Given the description of an element on the screen output the (x, y) to click on. 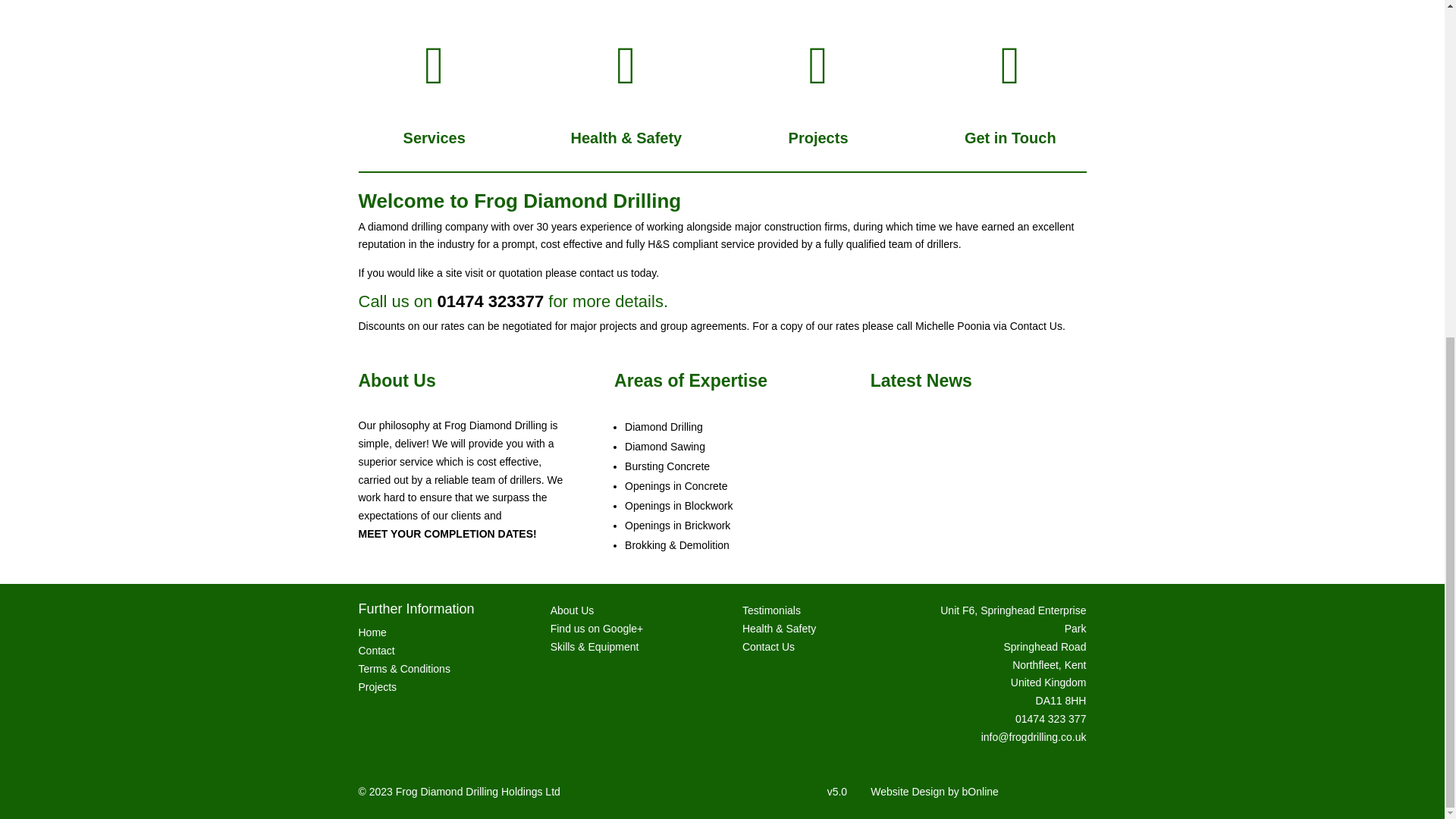
Contact Us (768, 646)
Testimonials (771, 610)
Contact (376, 650)
Projects (377, 686)
Home (371, 632)
Website Design by bOnline (934, 791)
